Given the description of an element on the screen output the (x, y) to click on. 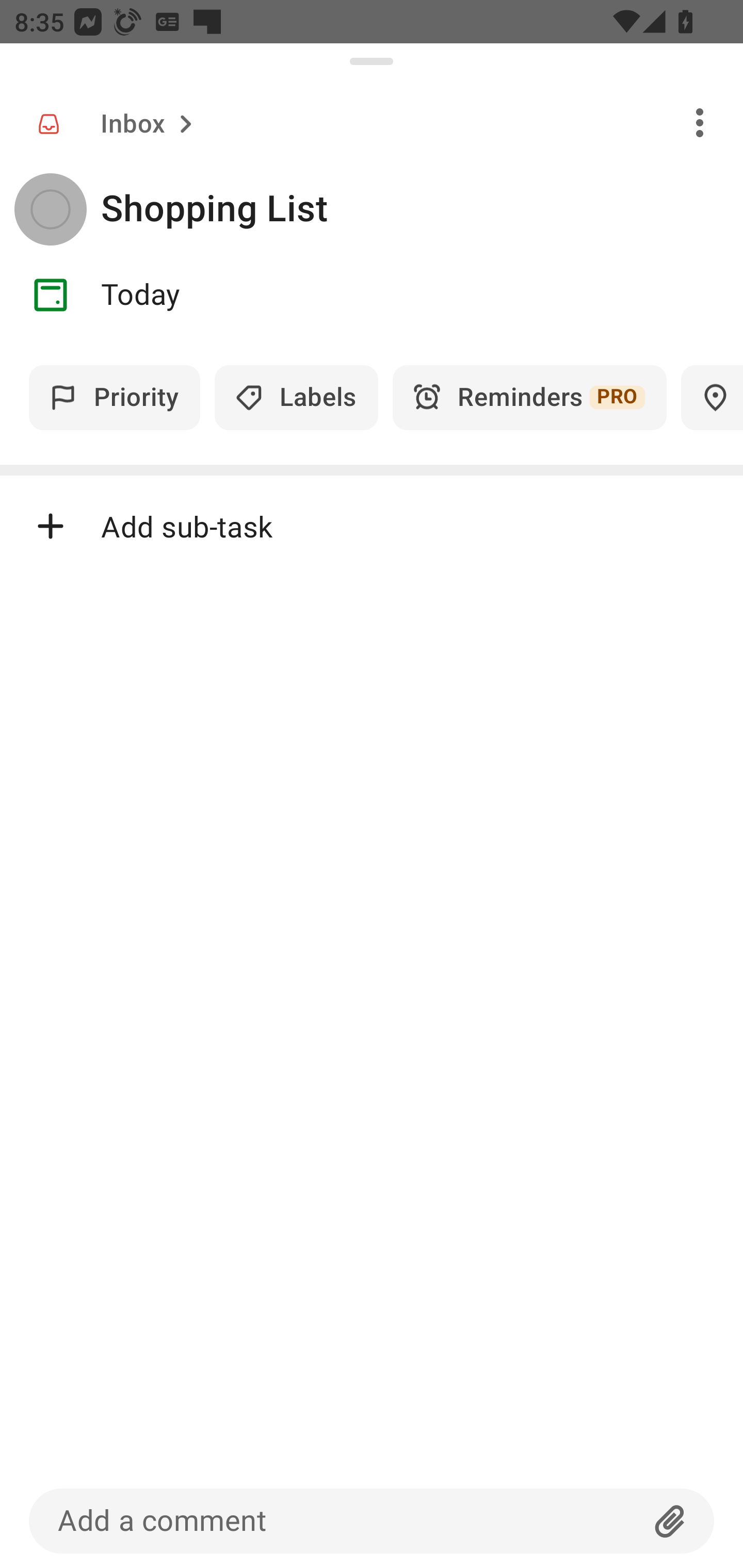
Overflow menu (699, 122)
Complete (50, 209)
Shopping List​ (422, 209)
Date Today (371, 295)
Priority (113, 397)
Labels (296, 397)
Reminders PRO (529, 397)
Locations PRO (712, 397)
Add sub-task (371, 525)
Add a comment Attachment (371, 1520)
Attachment (670, 1520)
